Given the description of an element on the screen output the (x, y) to click on. 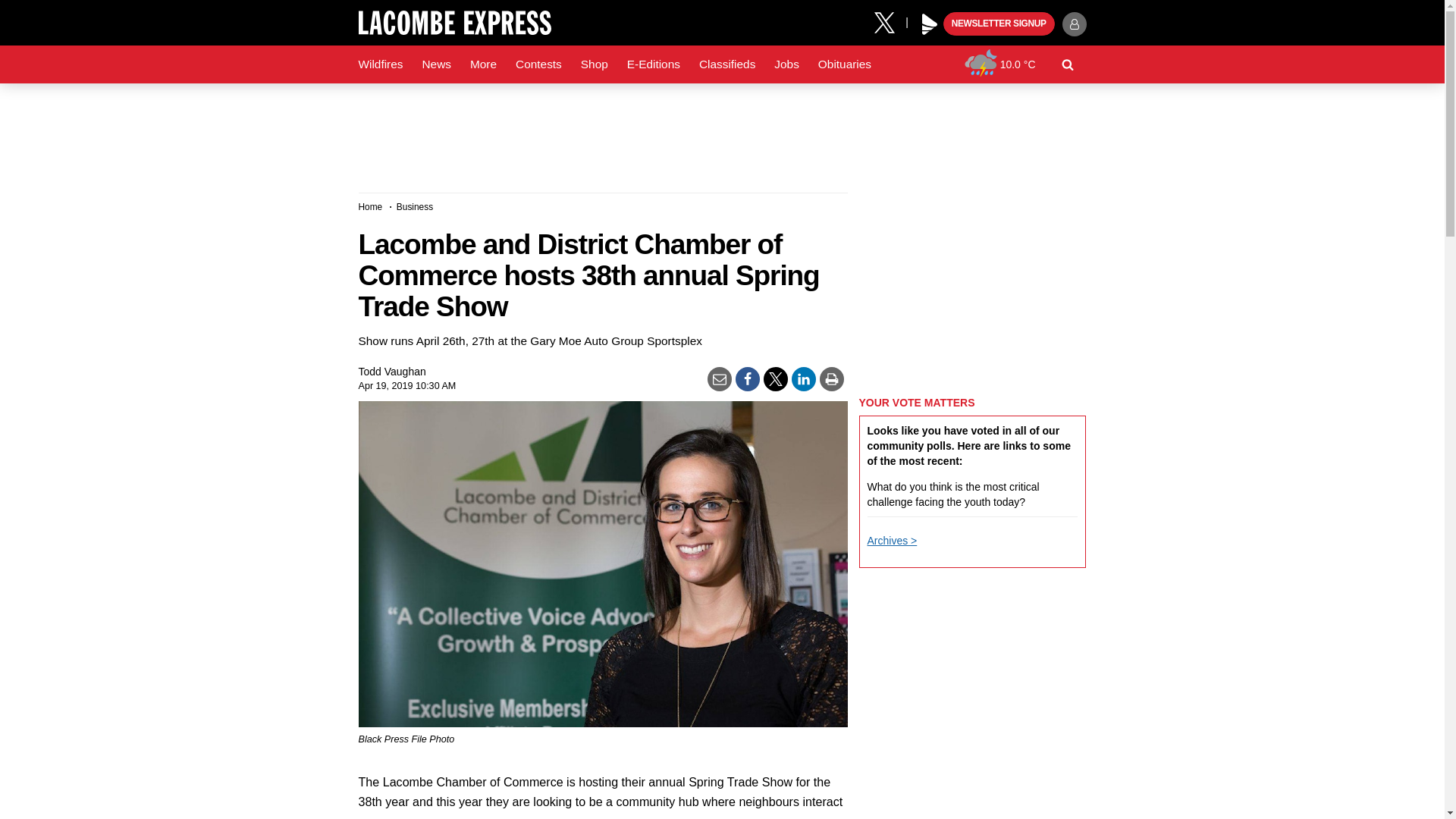
News (435, 64)
NEWSLETTER SIGNUP (998, 24)
X (889, 21)
Black Press Media (929, 24)
Wildfires (380, 64)
Play (929, 24)
